Given the description of an element on the screen output the (x, y) to click on. 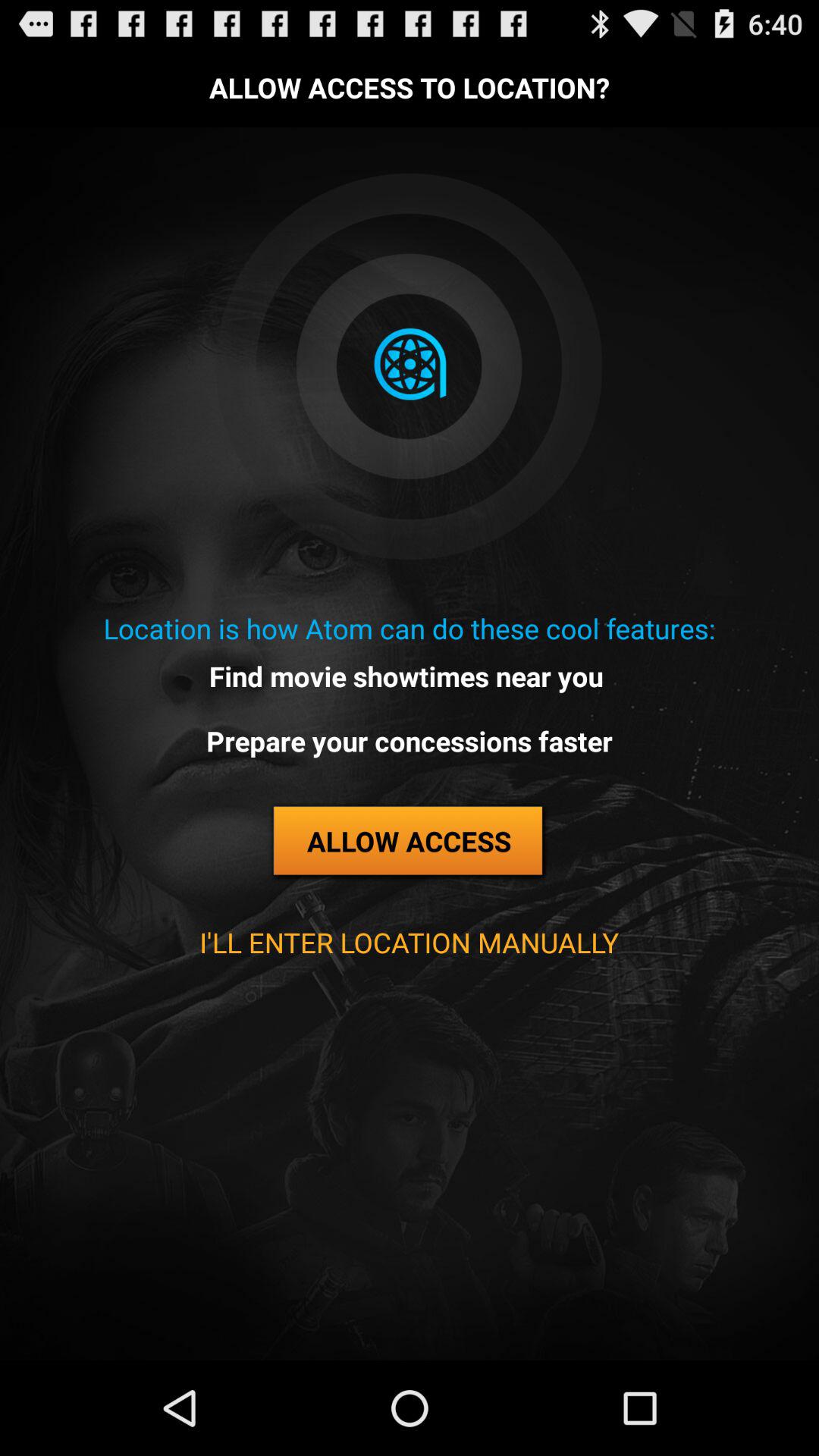
swipe to i ll enter app (408, 942)
